Given the description of an element on the screen output the (x, y) to click on. 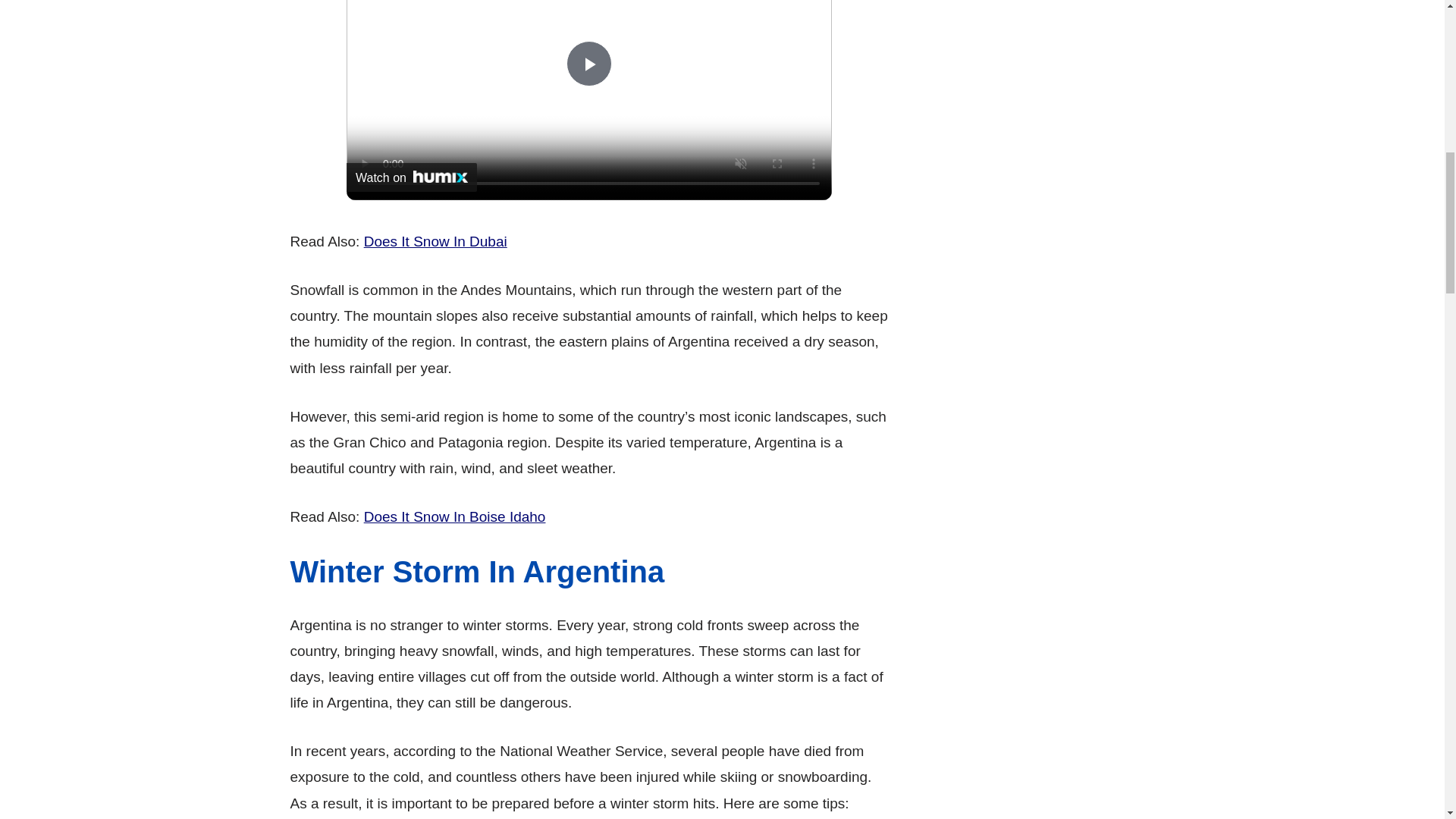
Play Video (588, 63)
Does It Snow In Dubai (435, 241)
Play Video (588, 63)
Watch on (411, 176)
